Given the description of an element on the screen output the (x, y) to click on. 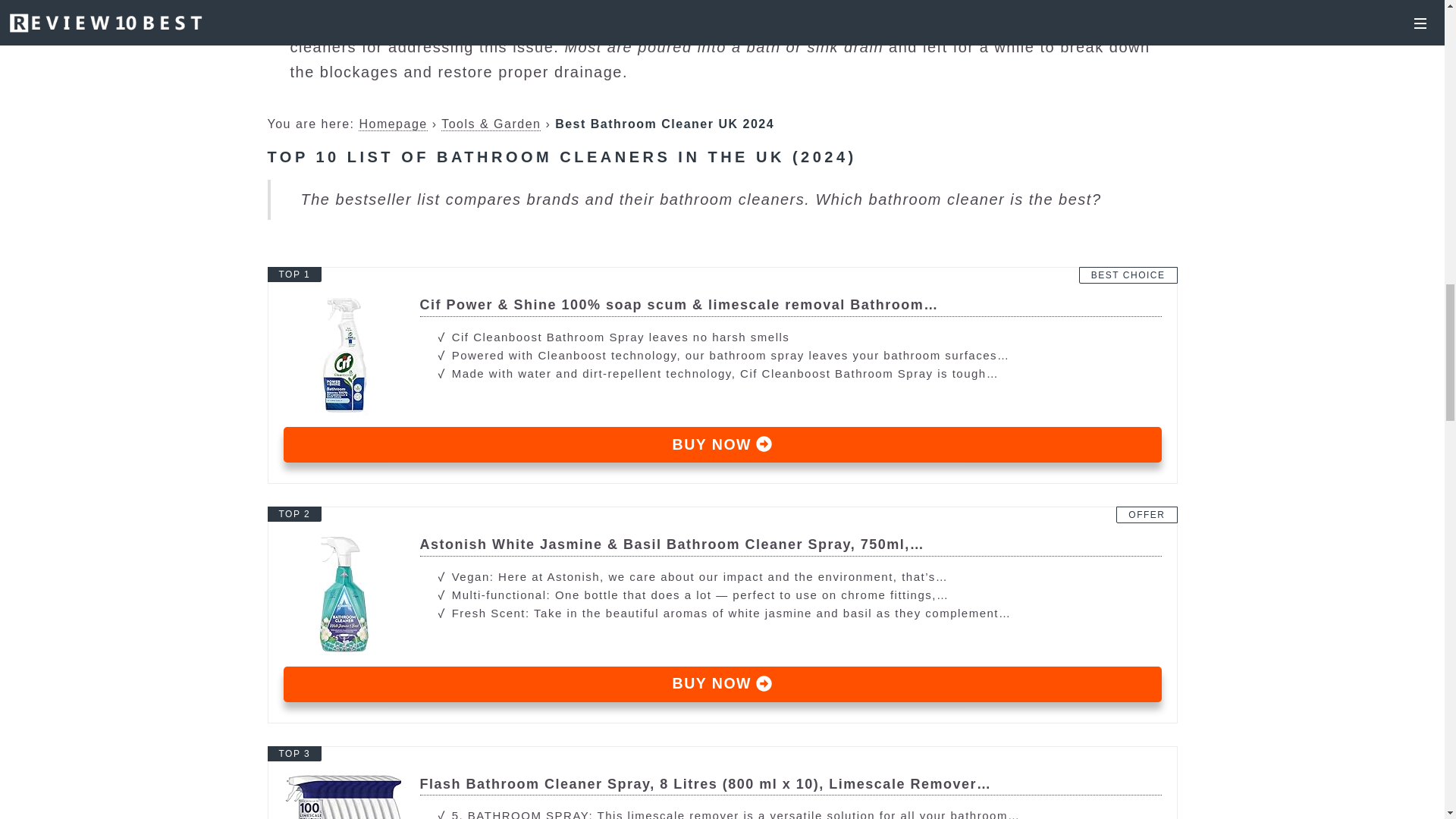
BUY NOW (722, 444)
Homepage (392, 124)
Astonish 20561 bathroom cleaner (722, 544)
Cif COS175083 bathroom cleaner (722, 444)
Cif COS175083 bathroom cleaner (722, 305)
BUY NOW (722, 683)
Astonish 20561 bathroom cleaner (722, 683)
FLASH 8006540730010 bathroom cleaner (722, 784)
